Given the description of an element on the screen output the (x, y) to click on. 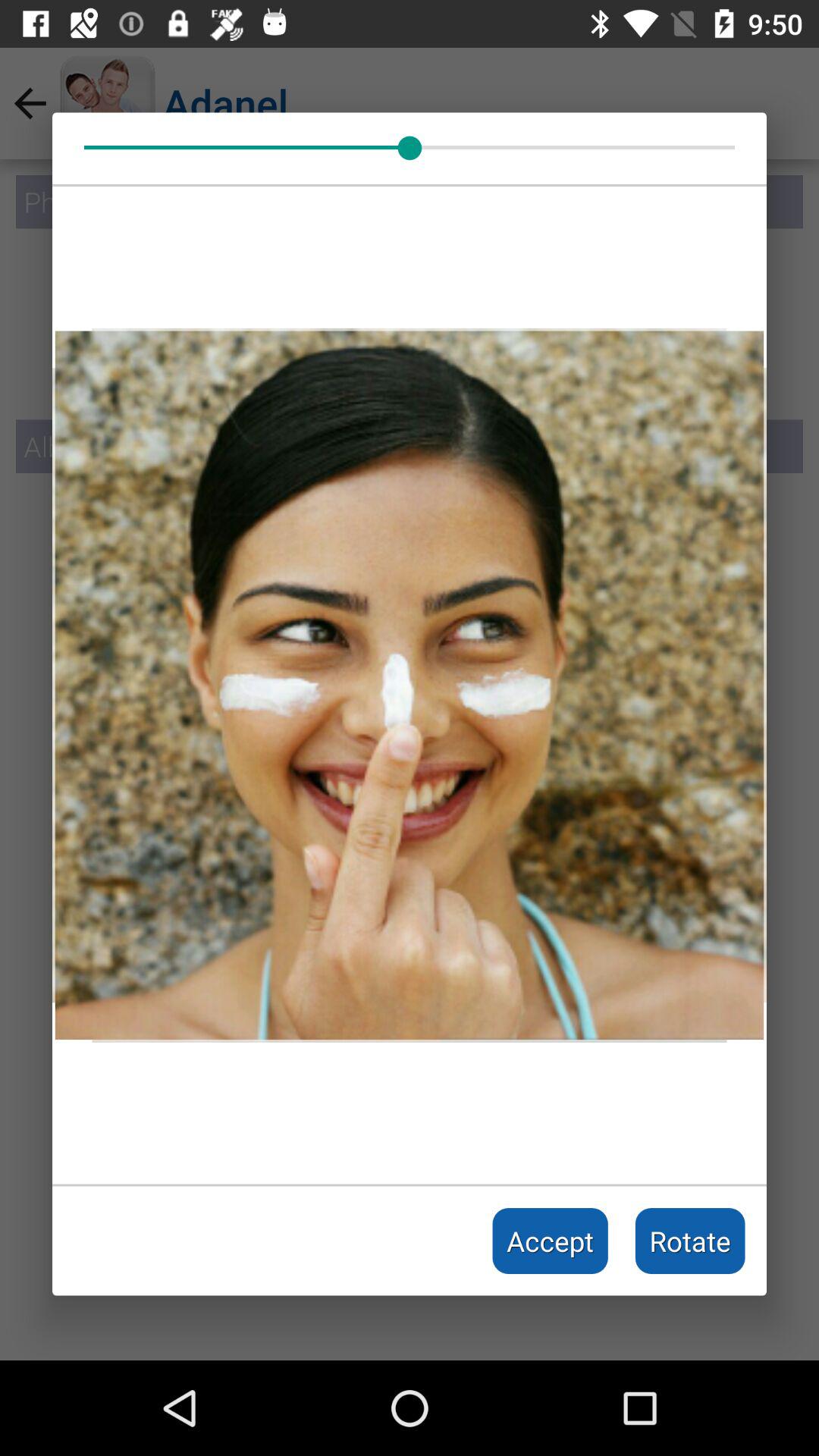
click icon to the left of the rotate item (549, 1240)
